Given the description of an element on the screen output the (x, y) to click on. 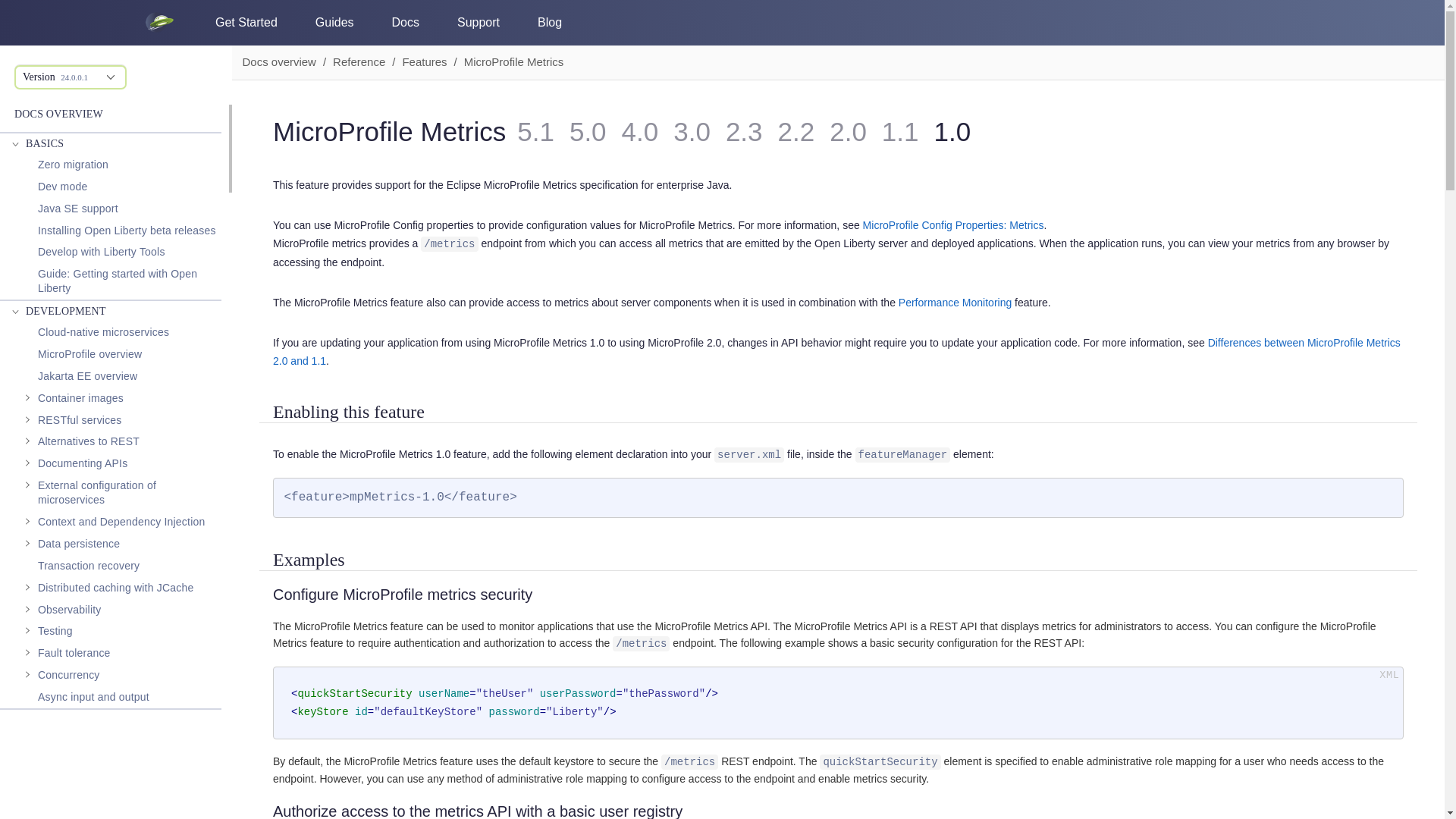
Support (478, 22)
Guide: Getting started with Open Liberty (129, 280)
Java SE support (77, 209)
24.0.0.1 (74, 76)
MicroProfile overview (89, 354)
Cloud-native microservices (102, 332)
Dev mode (62, 187)
DOCS OVERVIEW (58, 113)
Code block (838, 702)
Jakarta EE overview (86, 376)
Installing Open Liberty beta releases (126, 230)
Get Started (246, 22)
Develop with Liberty Tools (101, 251)
Blog (549, 22)
Docs (405, 22)
